Given the description of an element on the screen output the (x, y) to click on. 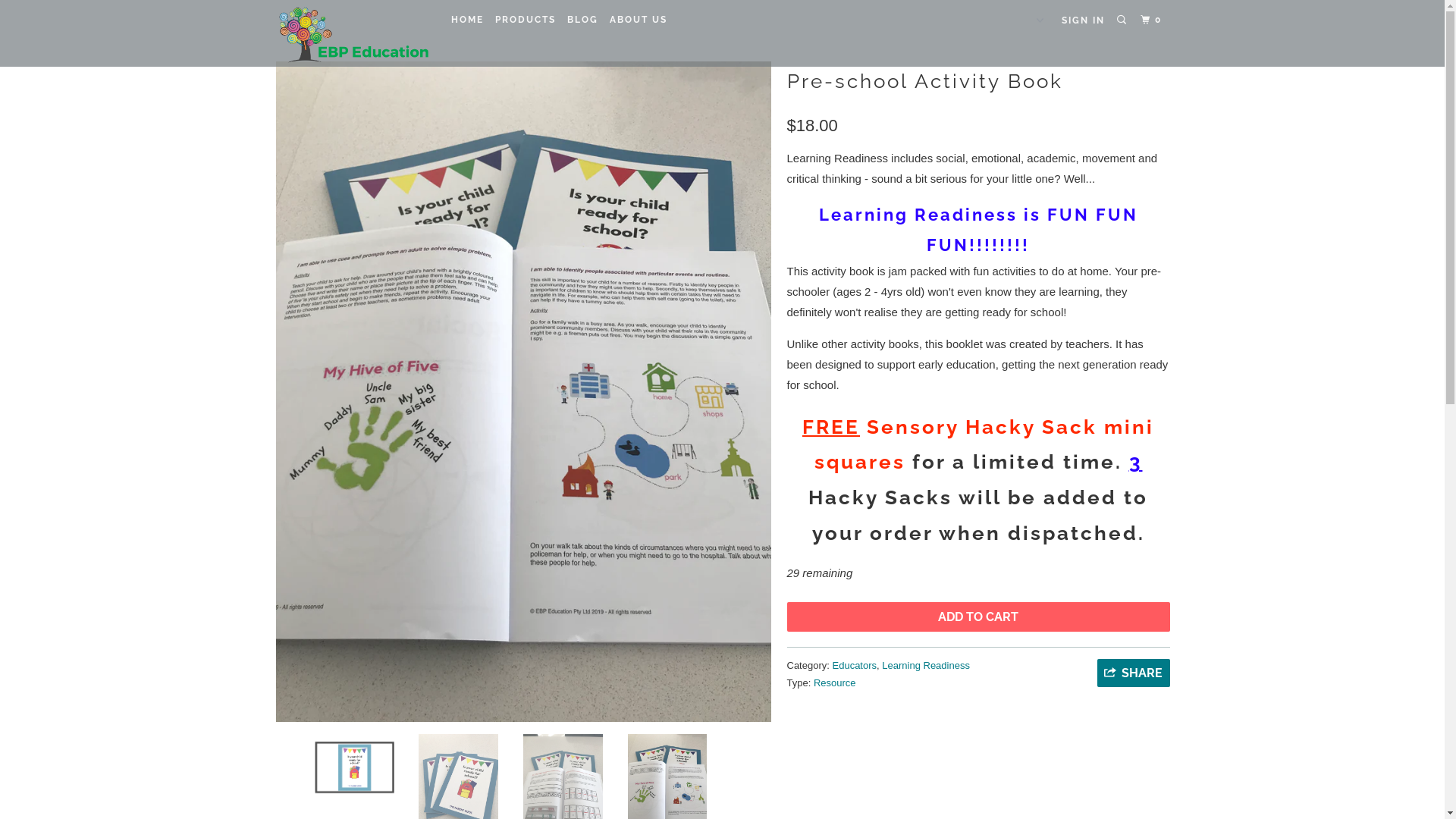
Search Element type: hover (1122, 19)
SIGN IN Element type: text (1082, 20)
BLOG Element type: text (582, 19)
ADD TO CART Element type: text (978, 616)
EBP Education Element type: hover (351, 32)
Pre-school Activity Book Element type: hover (522, 391)
PRODUCTS Element type: text (525, 19)
HOME Element type: text (466, 19)
Resource Element type: text (834, 682)
Educators Element type: text (854, 665)
Learning Readiness Element type: text (925, 665)
ABOUT US Element type: text (638, 19)
0 Element type: text (1152, 19)
